Given the description of an element on the screen output the (x, y) to click on. 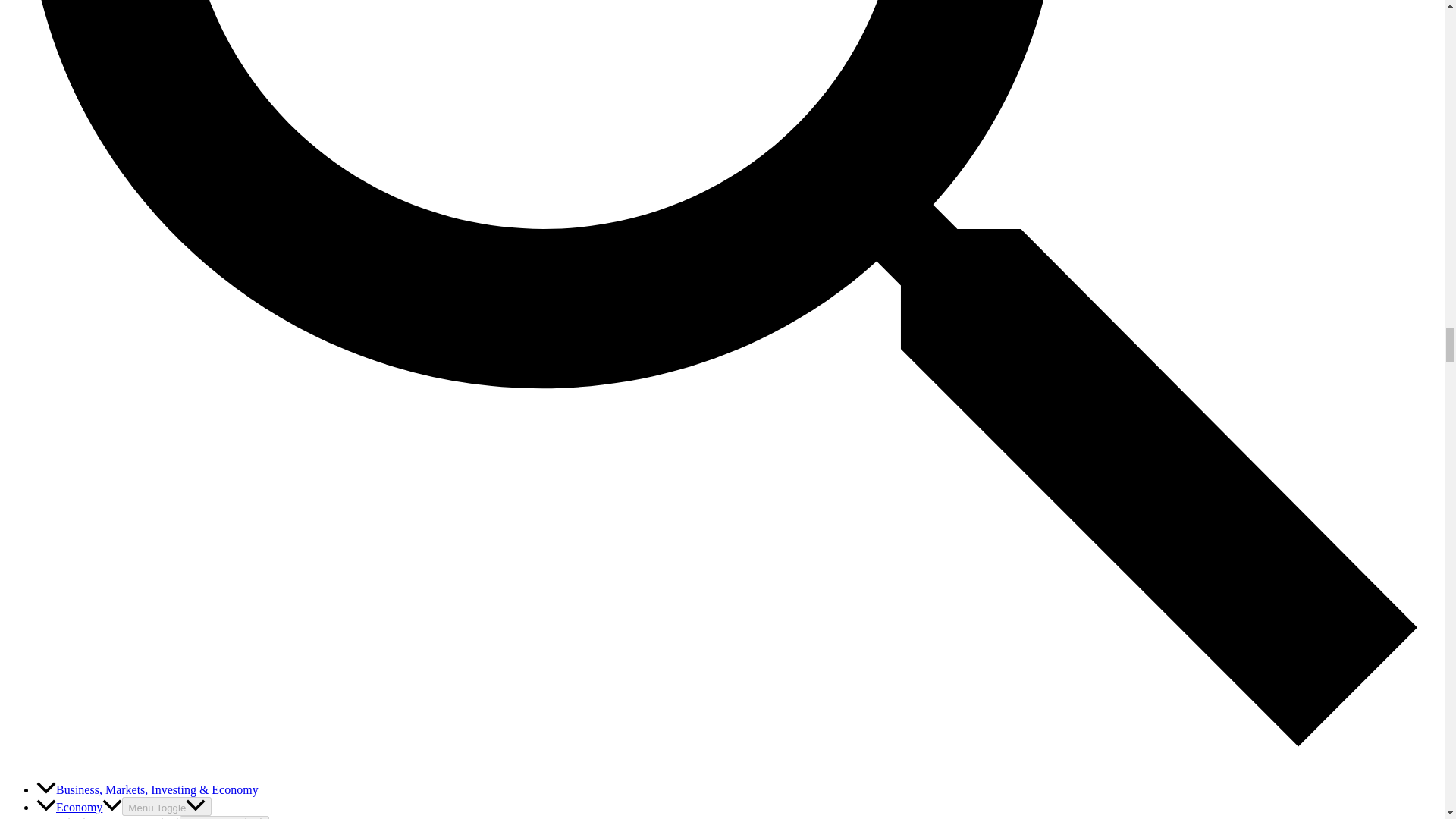
Menu Toggle (224, 817)
Economy (79, 807)
Menu Toggle (166, 805)
